Given the description of an element on the screen output the (x, y) to click on. 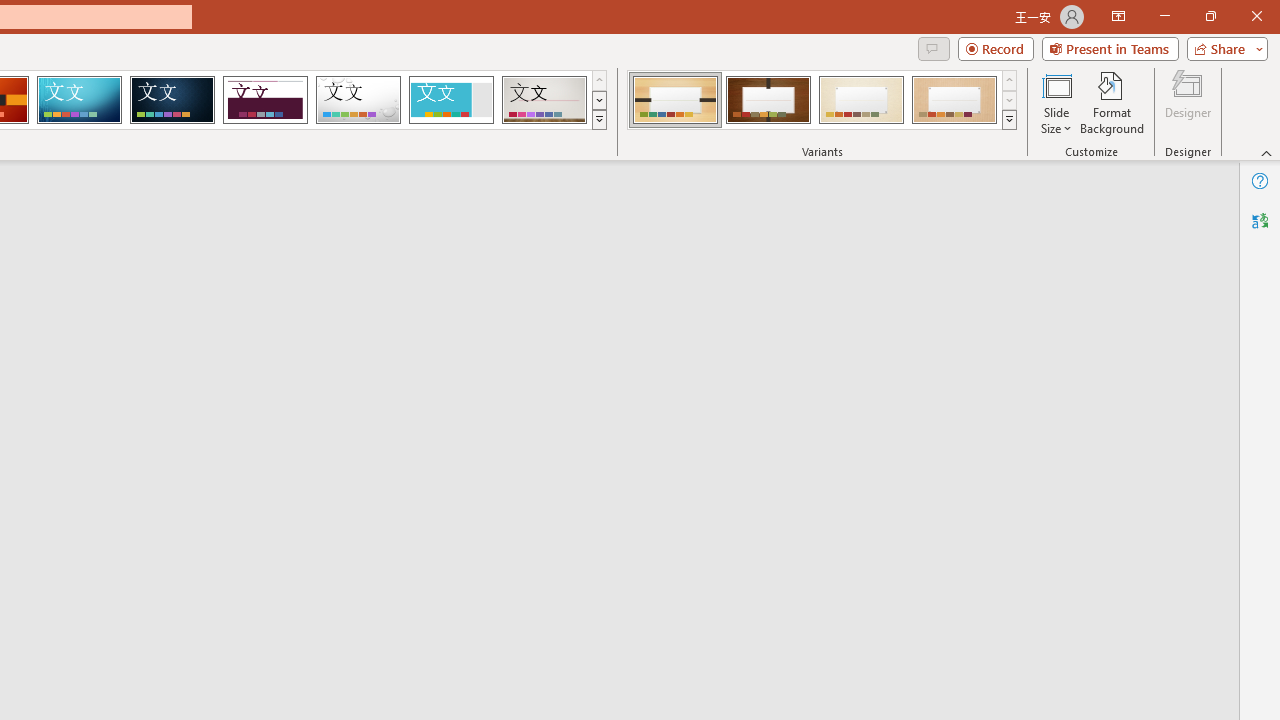
Organic Variant 3 (861, 100)
Organic Variant 1 (674, 100)
Organic Variant 4 (953, 100)
Dividend (265, 100)
Organic Variant 2 (768, 100)
Damask (171, 100)
